Given the description of an element on the screen output the (x, y) to click on. 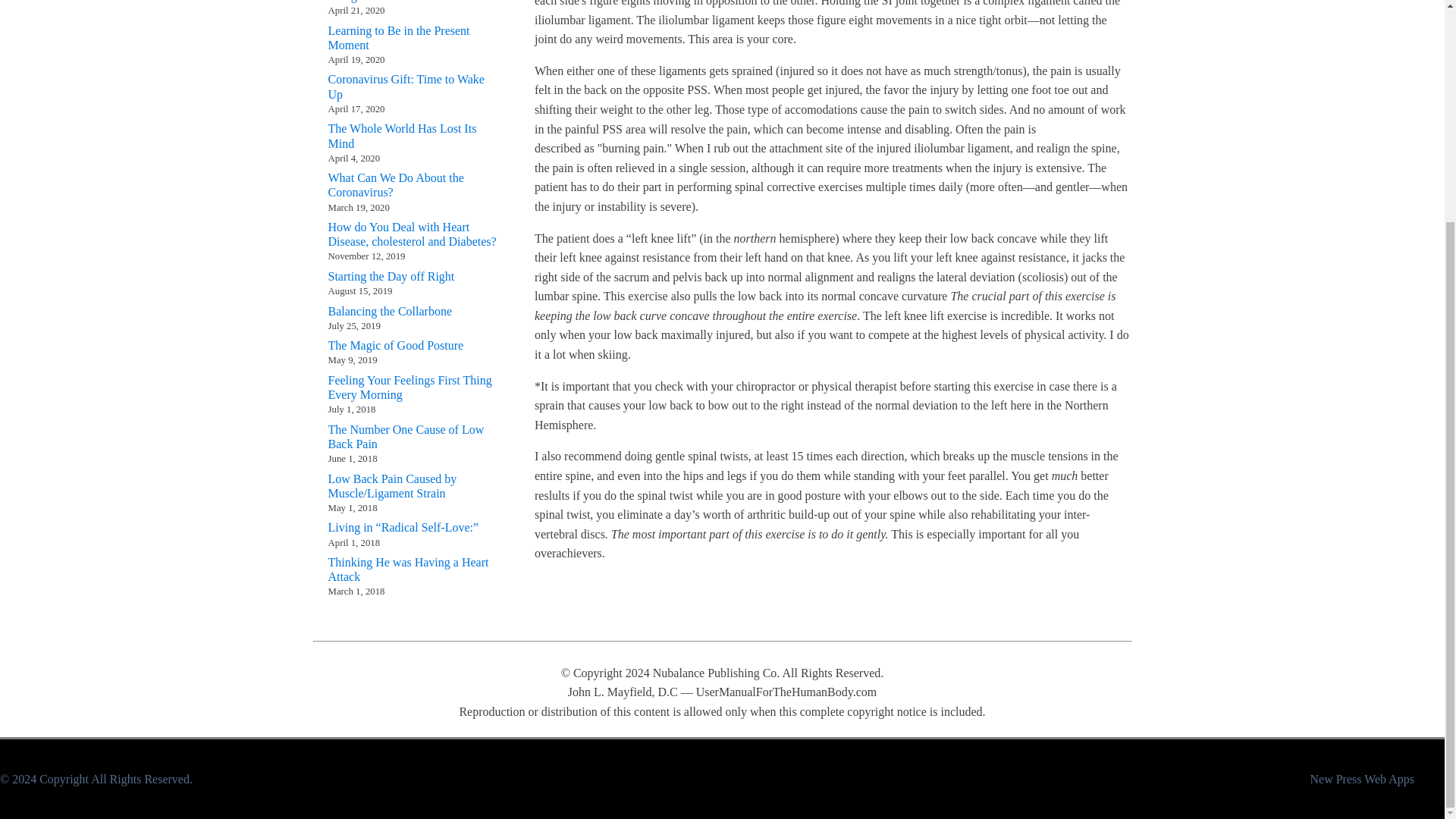
Coronavirus Gift: Time to Wake Up (411, 86)
Learning to Be in the Present Moment (411, 37)
What Can We Do About the Coronavirus? (411, 184)
The Number One Cause of Low Back Pain (411, 436)
The Magic of Good Posture (395, 345)
Thinking He was Having a Heart Attack (411, 569)
Being in the Moment (378, 1)
The Whole World Has Lost Its Mind (411, 135)
Starting the Day off Right (390, 276)
Balancing the Collarbone (389, 310)
Feeling Your Feelings First Thing Every Morning (411, 387)
